Given the description of an element on the screen output the (x, y) to click on. 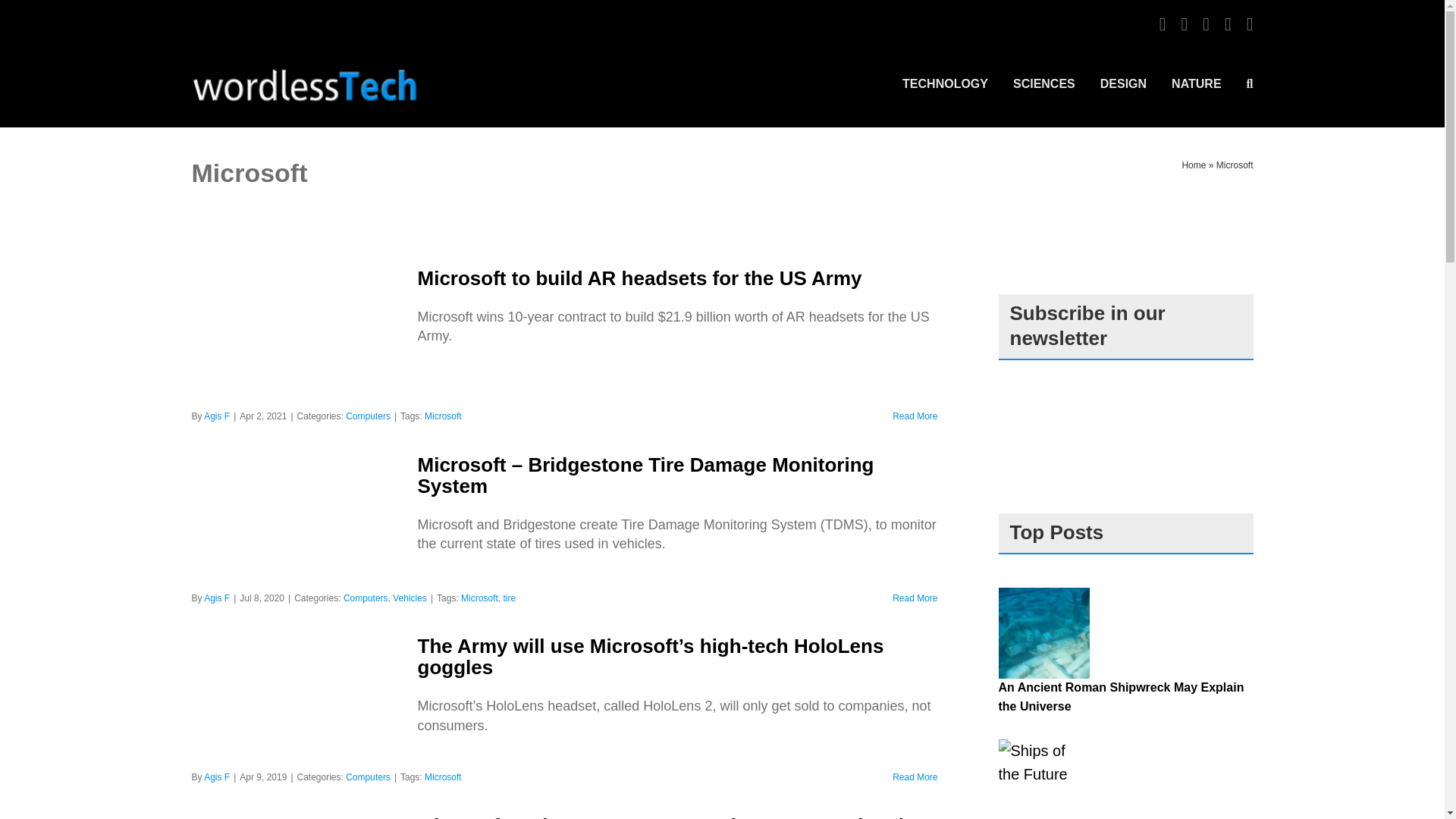
NATURE (1196, 83)
Posts by Agis F (216, 597)
Microsoft - Bridgestone Tire Damage Monitoring System 2 (298, 518)
The Army will use Microsoft's high-tech HoloLens goggles 3 (298, 698)
Posts by Agis F (216, 416)
Posts by Agis F (216, 777)
Microsoft to build AR headsets for the US Army 1 (298, 334)
Microsoft underwater Datacenter is now operational 4 (298, 816)
TECHNOLOGY (945, 83)
SCIENCES (1044, 83)
